Given the description of an element on the screen output the (x, y) to click on. 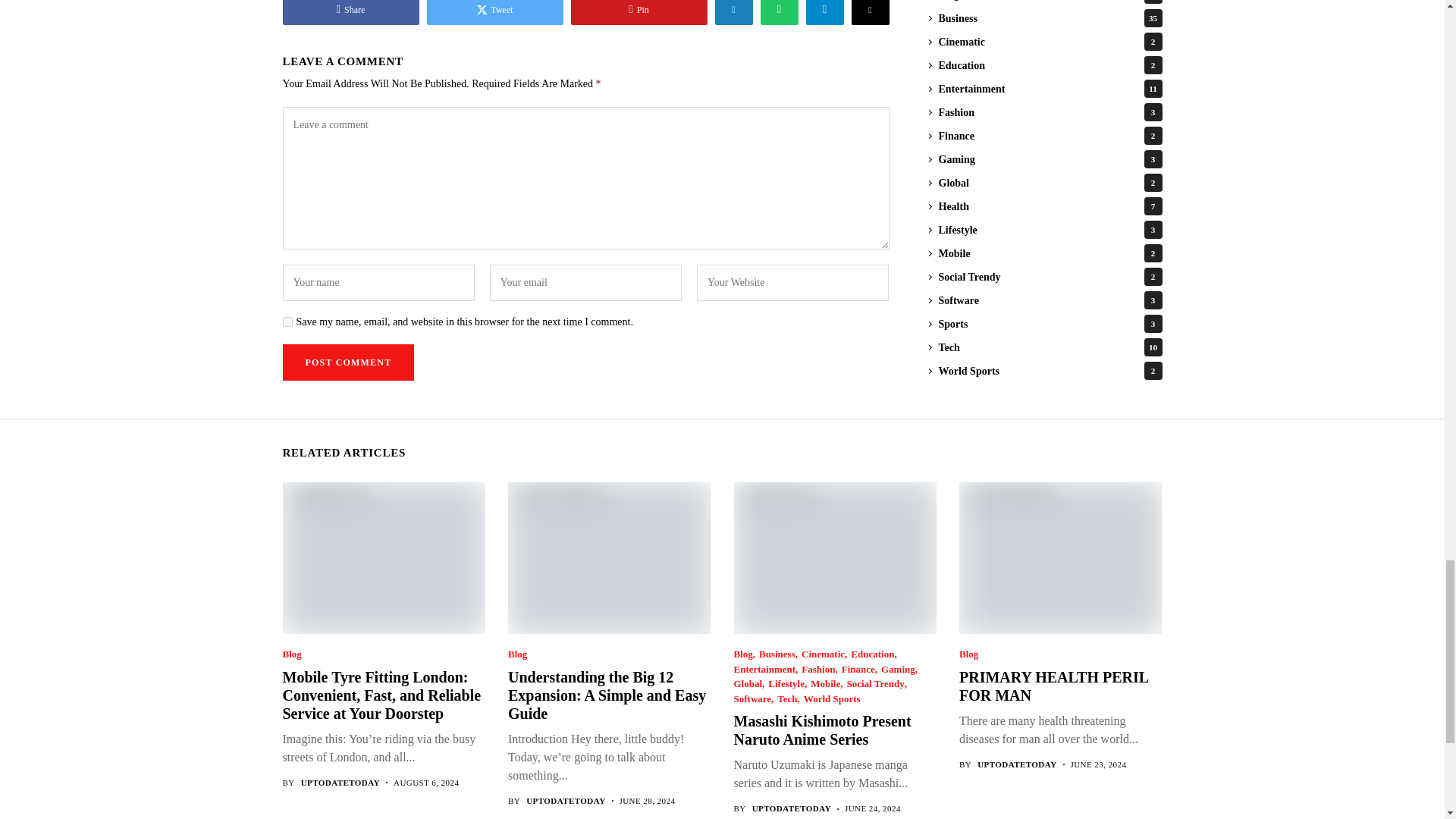
Posts by uptodatetoday (791, 808)
Posts by uptodatetoday (565, 800)
Posts by uptodatetoday (340, 782)
Post Comment (347, 361)
Posts by uptodatetoday (1016, 764)
yes (287, 321)
